Given the description of an element on the screen output the (x, y) to click on. 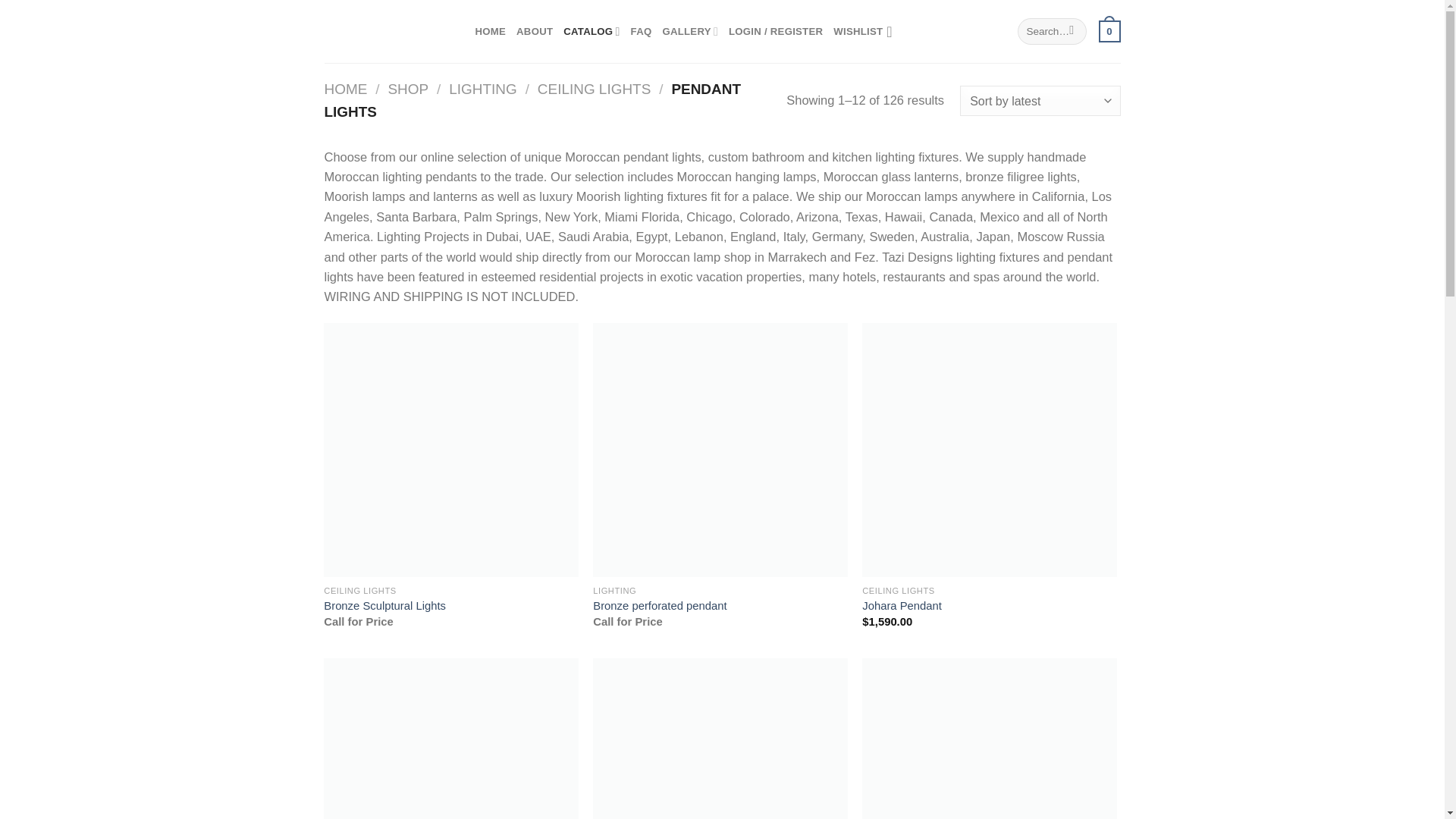
CATALOG (591, 30)
Tazi Designs - Moroccan style interior design custom shop (388, 31)
HOME (489, 30)
ABOUT (534, 30)
